Given the description of an element on the screen output the (x, y) to click on. 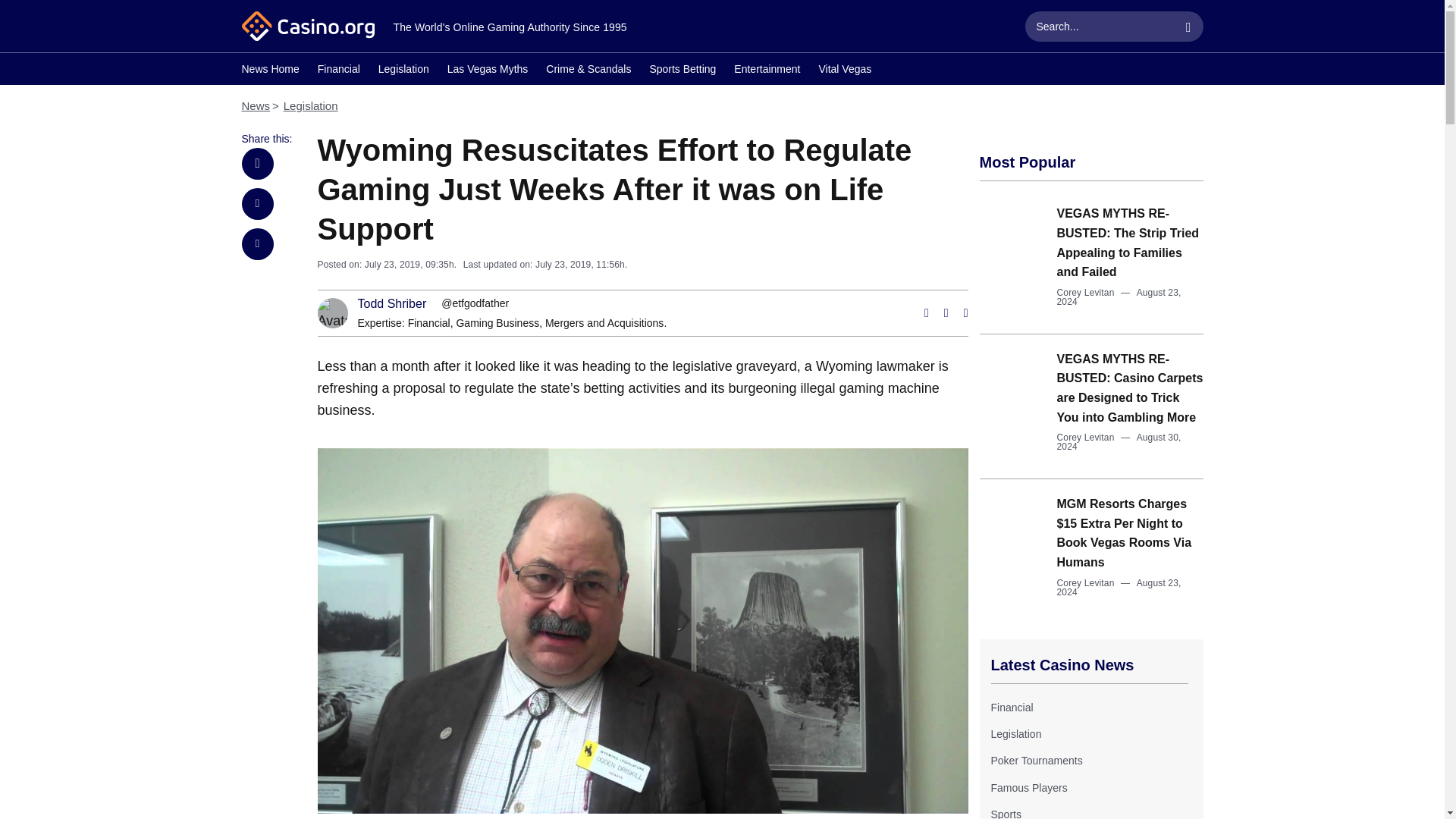
Vital Vegas (845, 70)
Las Vegas Myths (487, 70)
Financial (1011, 707)
Financial (428, 322)
Legislation (1015, 734)
News (255, 105)
Financial (1011, 707)
Todd Shriber (392, 304)
Mergers and Acquisitions (603, 322)
